Given the description of an element on the screen output the (x, y) to click on. 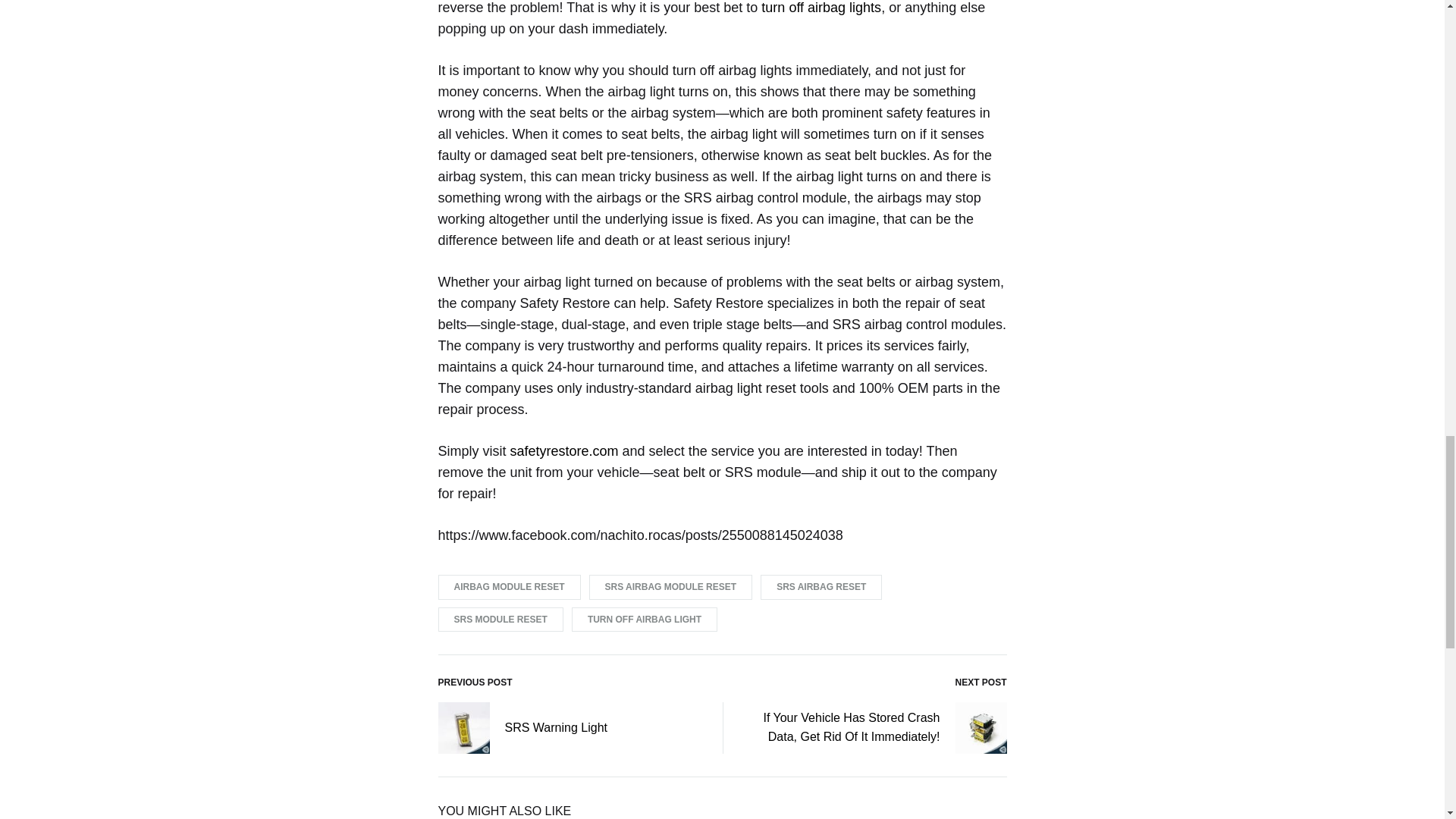
SRS MODULE RESET (500, 619)
TURN OFF AIRBAG LIGHT (644, 619)
turn off airbag lights (820, 7)
SRS Warning Light (522, 727)
AIRBAG MODULE RESET (509, 586)
SRS AIRBAG RESET (821, 586)
safetyrestore.com (564, 450)
SRS AIRBAG MODULE RESET (670, 586)
